Given the description of an element on the screen output the (x, y) to click on. 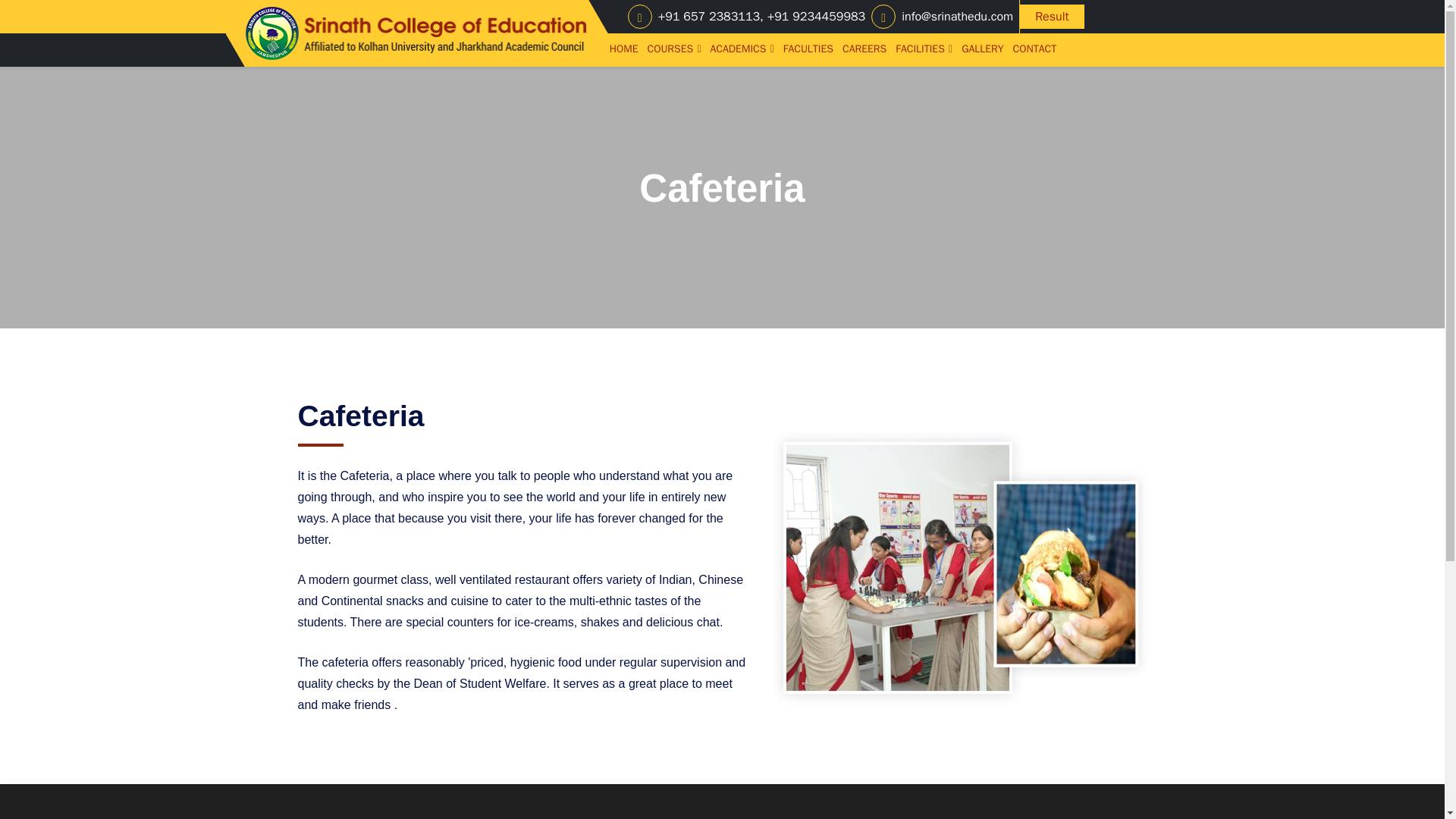
GALLERY (983, 48)
FACILITIES (925, 48)
COURSES (675, 48)
cafeteria (961, 567)
HOME (626, 48)
FACULTIES (809, 48)
CONTACT (1036, 48)
CAREERS (866, 48)
ACADEMICS (743, 48)
Result (1051, 16)
